Given the description of an element on the screen output the (x, y) to click on. 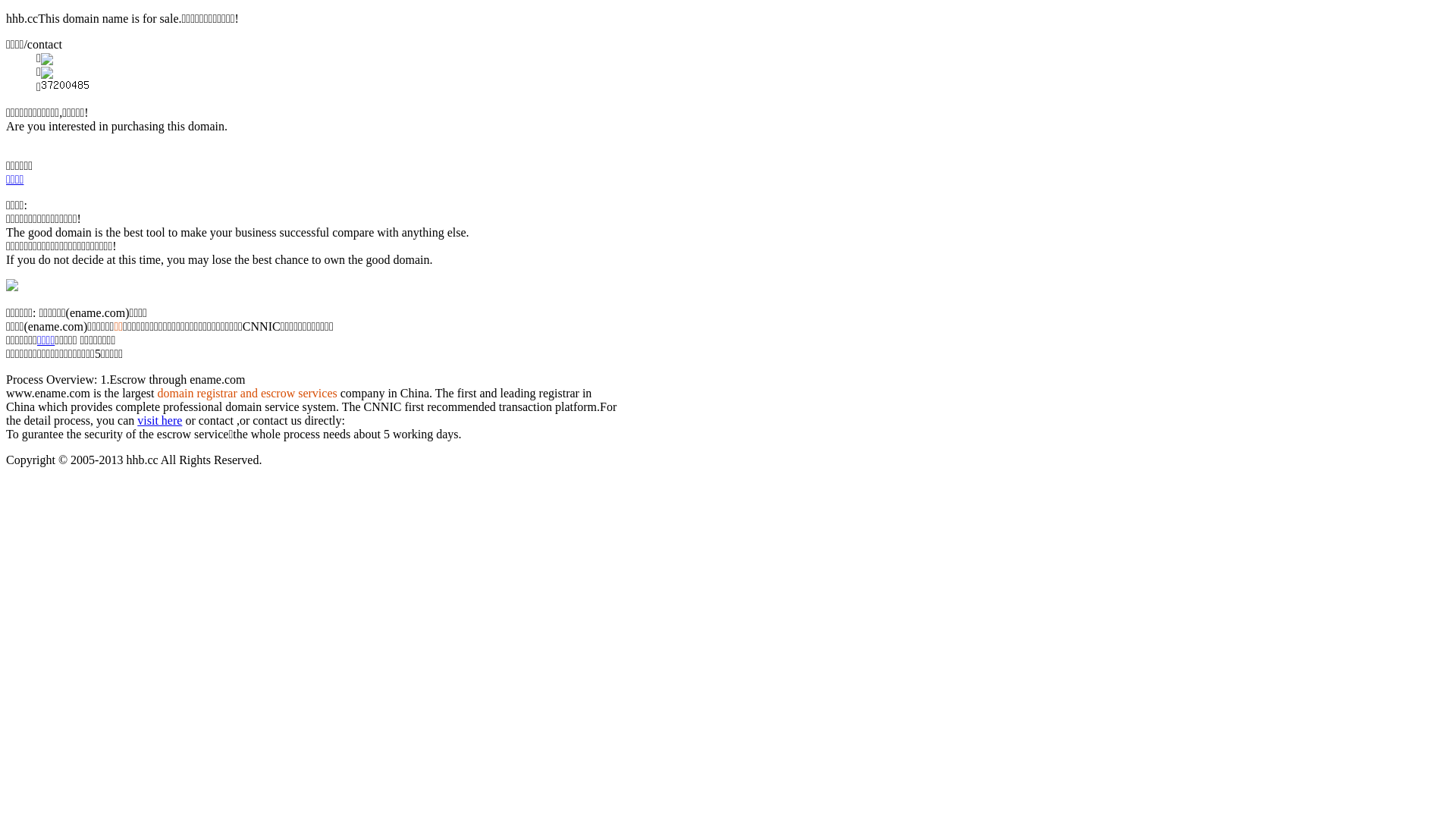
visit here Element type: text (159, 420)
